Given the description of an element on the screen output the (x, y) to click on. 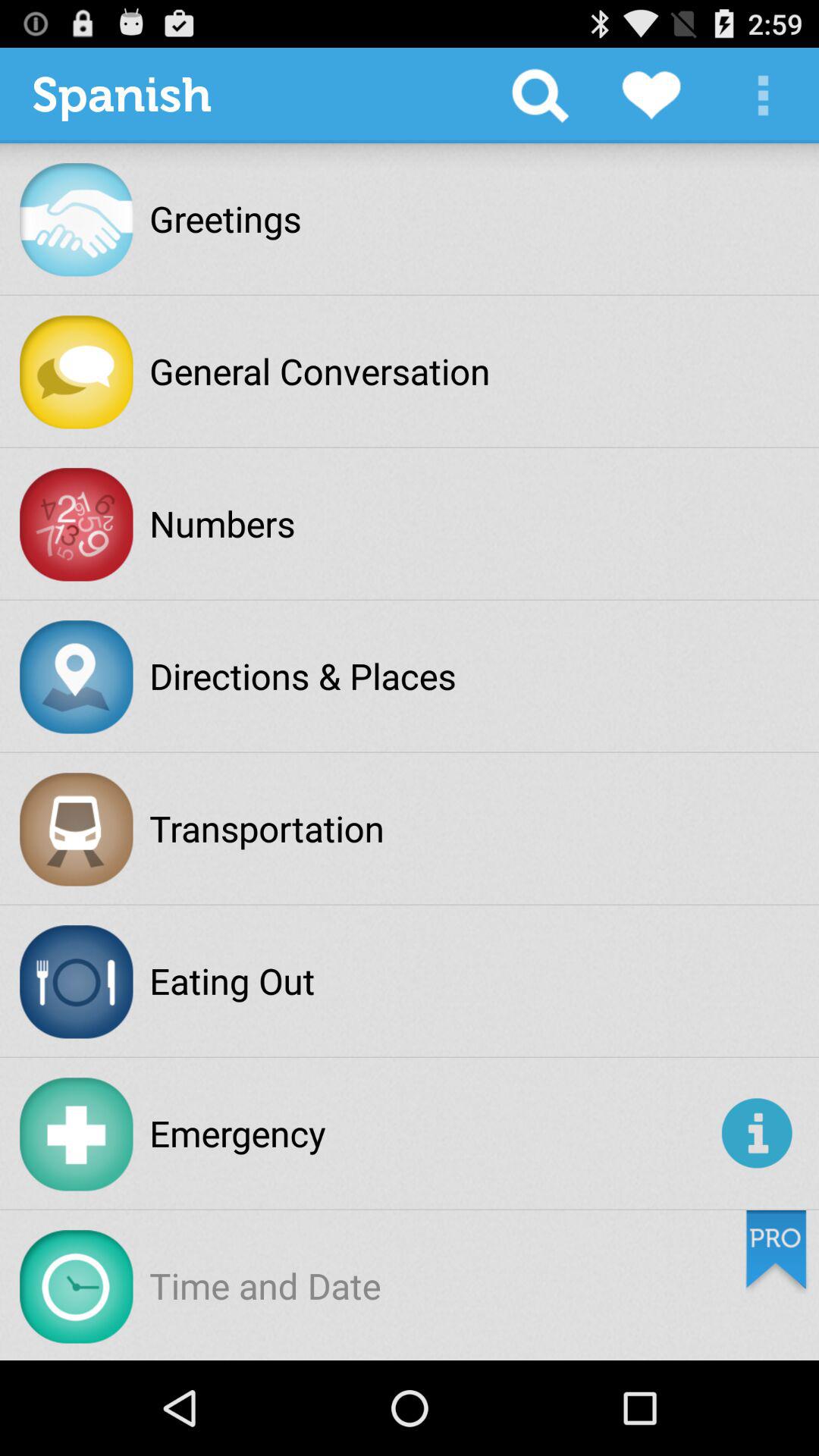
open eating out icon (232, 980)
